Given the description of an element on the screen output the (x, y) to click on. 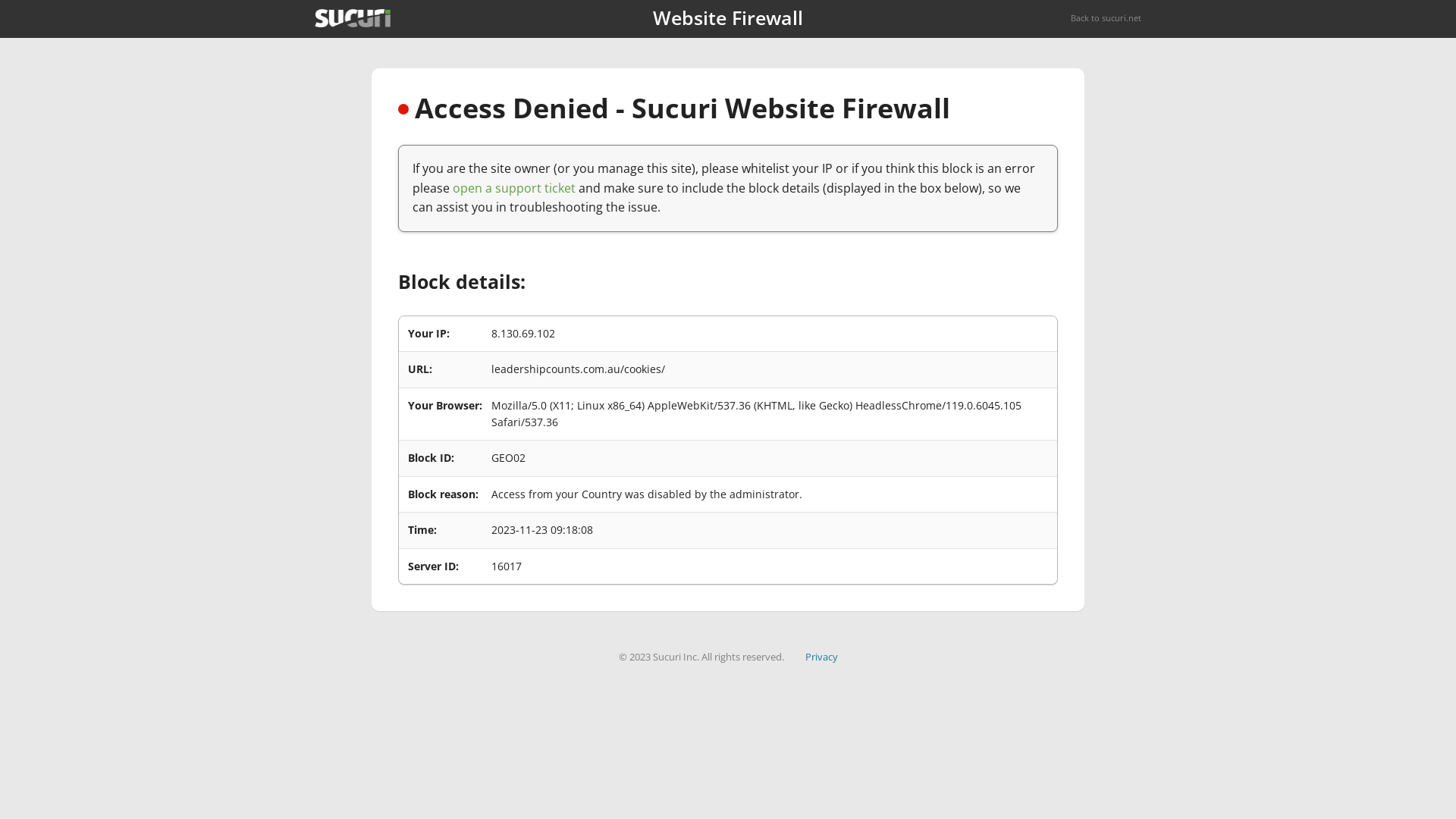
Privacy Element type: text (821, 656)
open a support ticket Element type: text (513, 187)
Back to sucuri.net Element type: text (1105, 18)
